Given the description of an element on the screen output the (x, y) to click on. 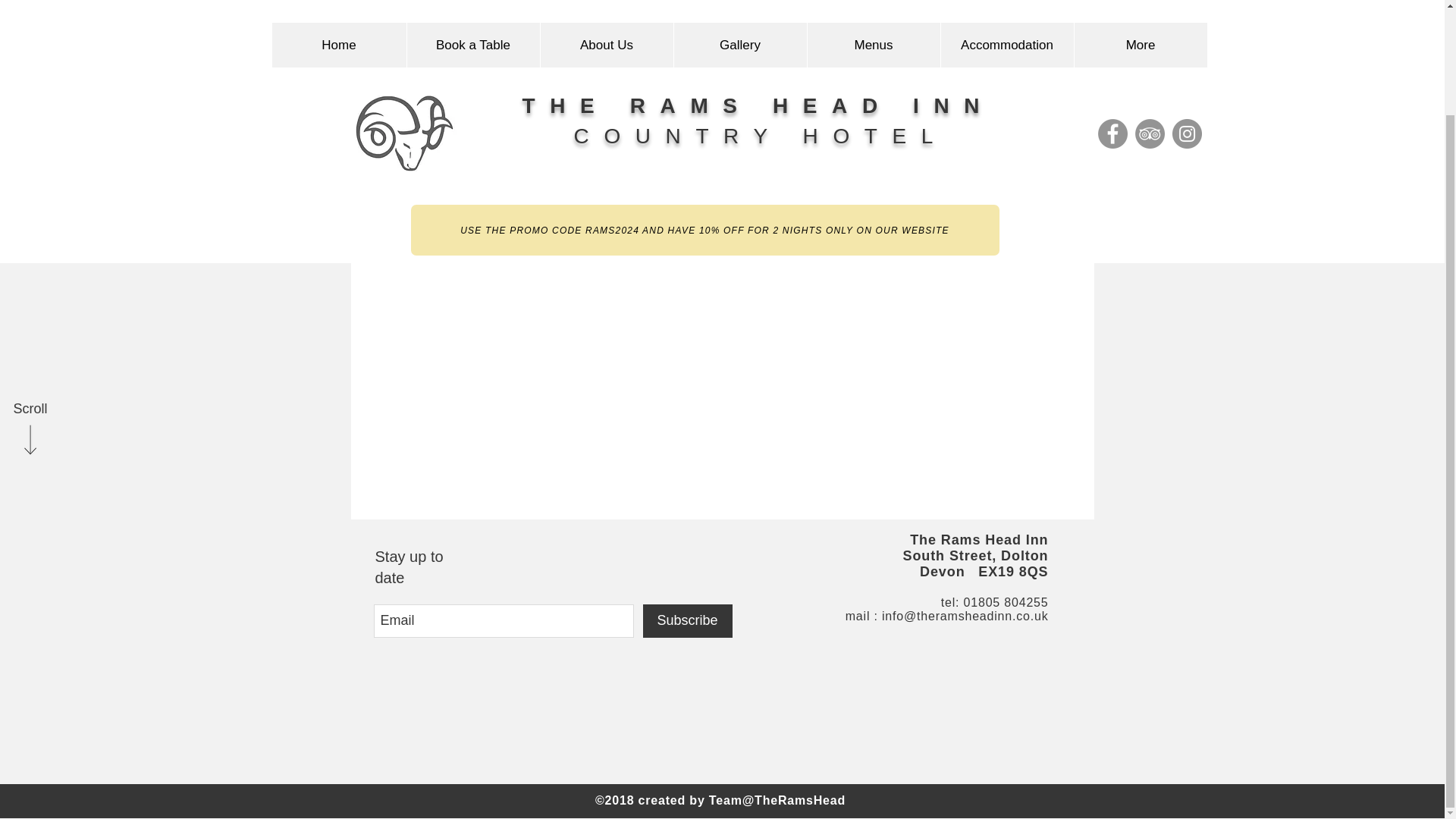
Scroll (29, 286)
COUNTRY HOTEL (760, 13)
Subscribe (687, 621)
